Given the description of an element on the screen output the (x, y) to click on. 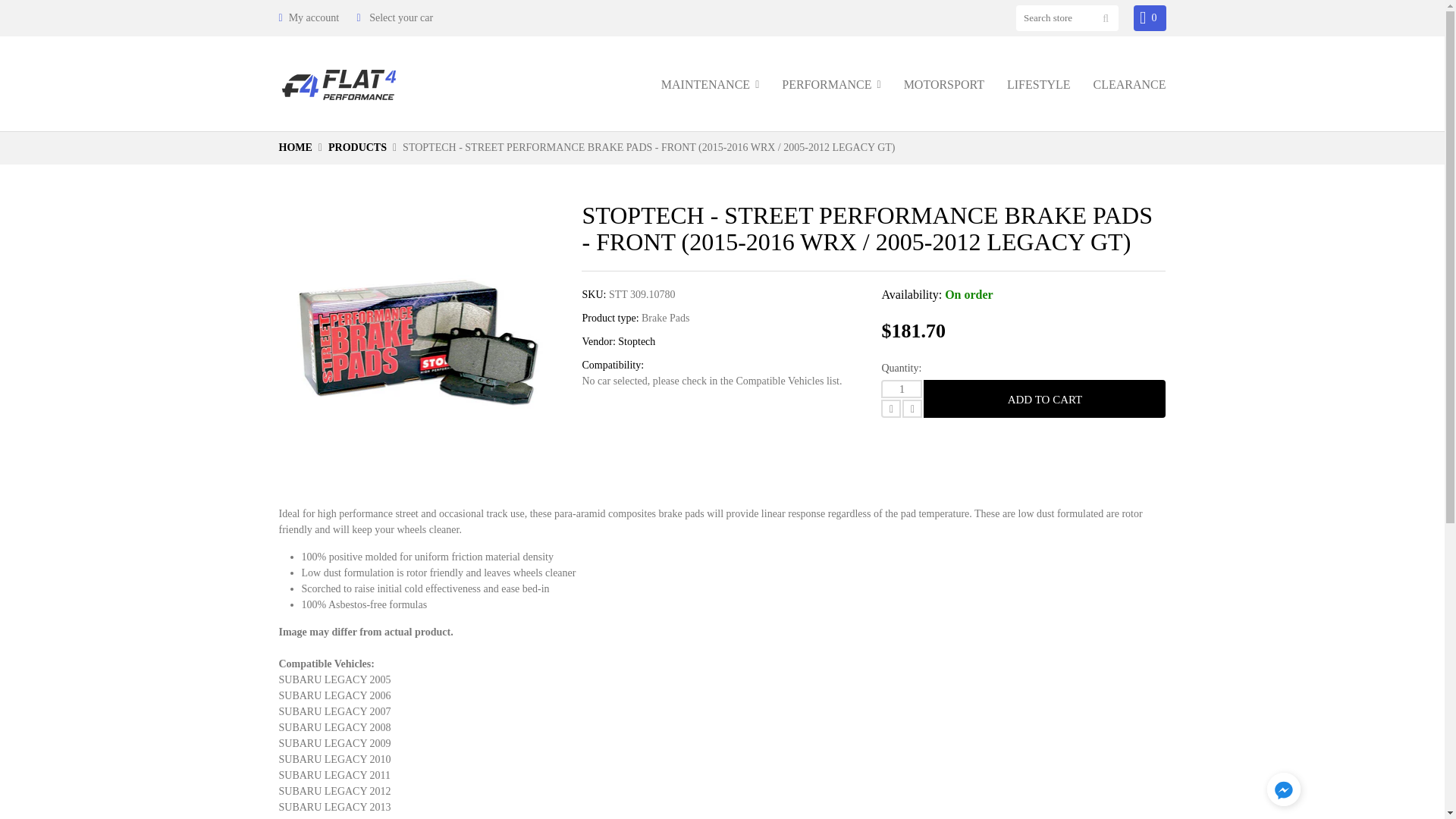
My account (309, 17)
MAINTENANCE (709, 82)
0 (1150, 17)
Select your car (400, 17)
1 (900, 389)
PERFORMANCE (830, 82)
